Given the description of an element on the screen output the (x, y) to click on. 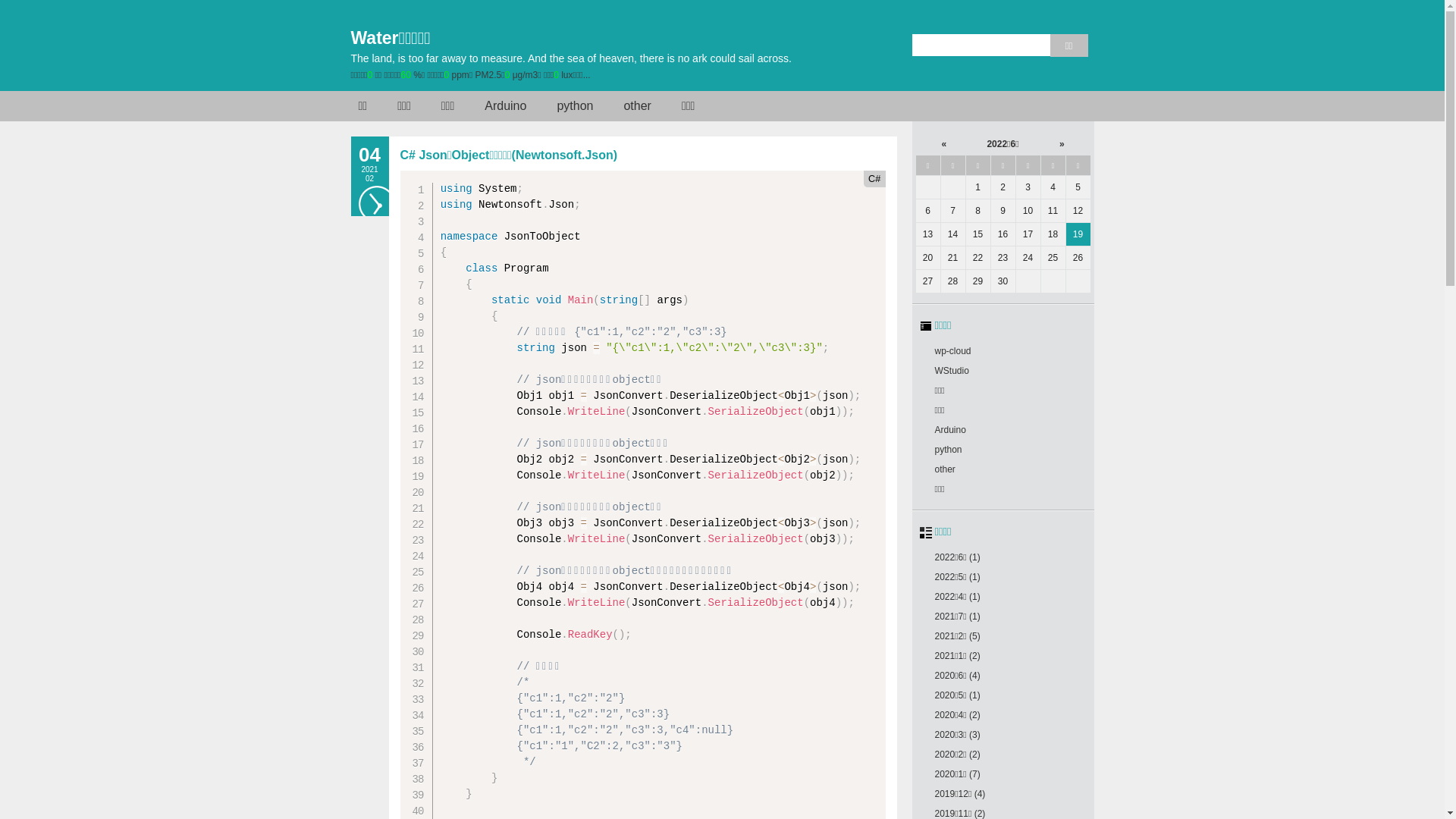
python Element type: text (947, 449)
other Element type: text (944, 469)
other Element type: text (636, 106)
Arduino Element type: text (504, 106)
19 Element type: text (1078, 233)
wp-cloud Element type: text (952, 350)
python Element type: text (574, 106)
WStudio Element type: text (951, 370)
Arduino Element type: text (949, 429)
